Given the description of an element on the screen output the (x, y) to click on. 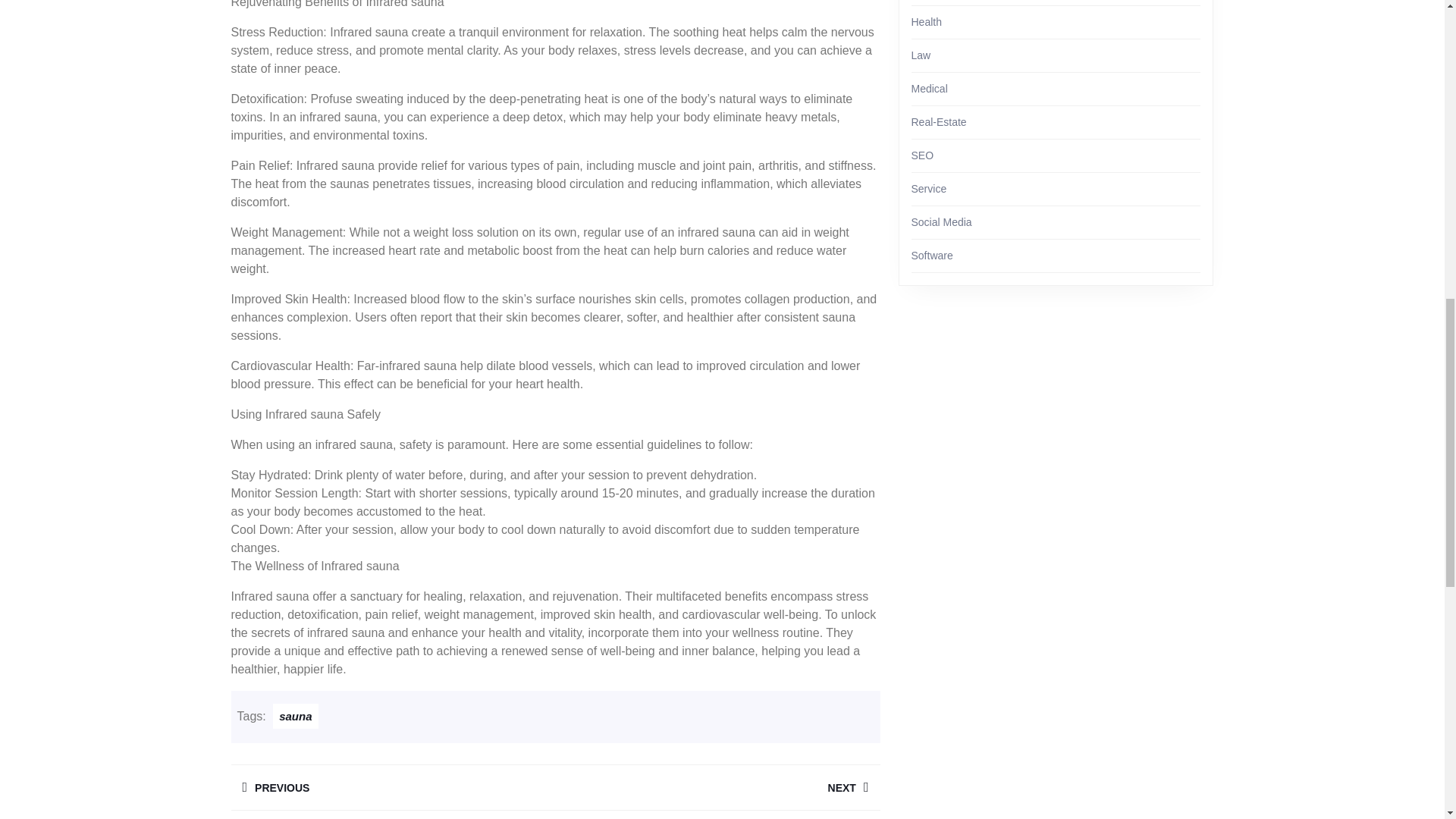
sauna (392, 787)
